Given the description of an element on the screen output the (x, y) to click on. 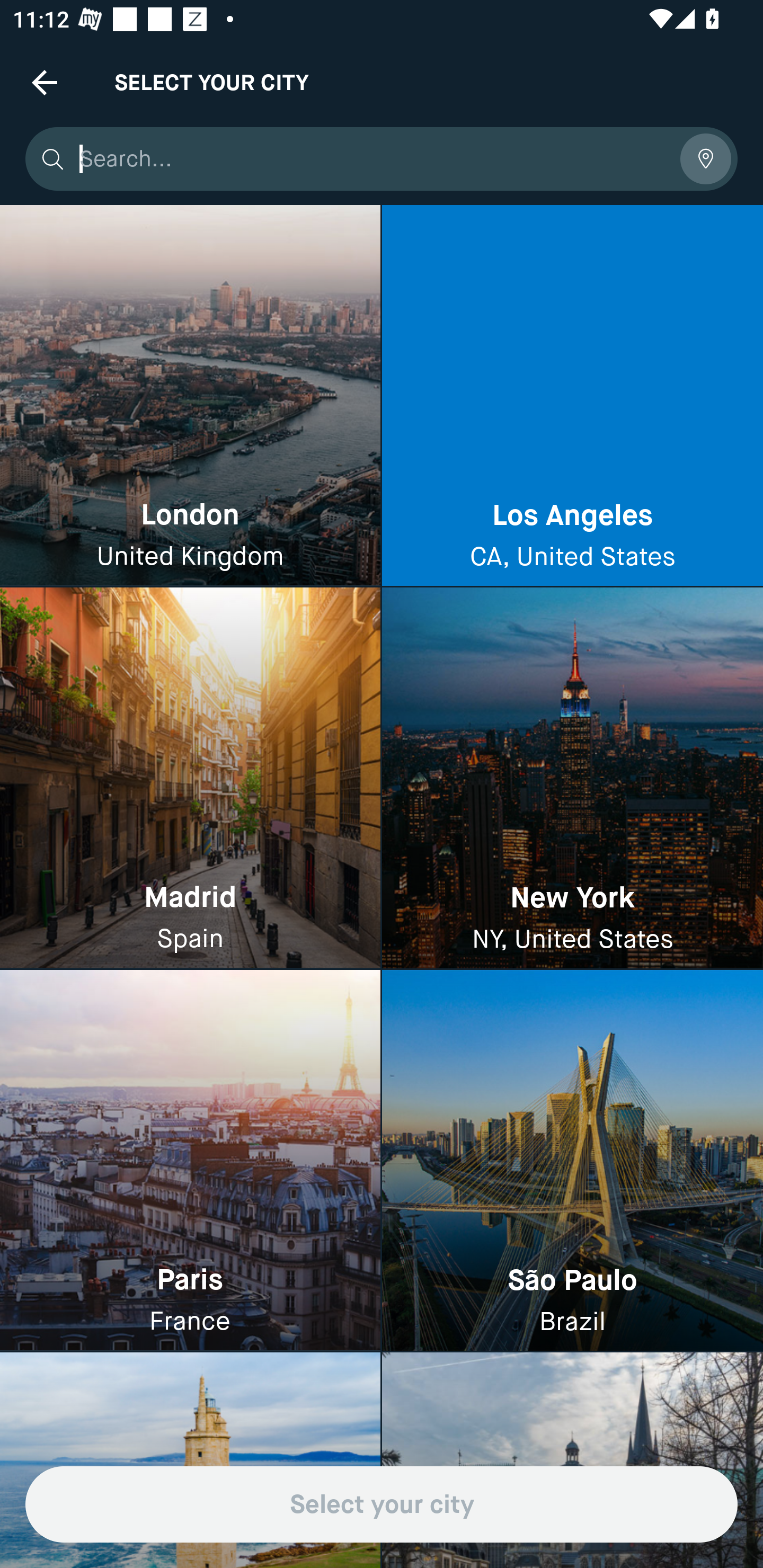
Navigate up (44, 82)
Search... (373, 159)
London United Kingdom (190, 395)
Los Angeles CA, United States (572, 395)
Madrid Spain (190, 778)
New York NY, United States (572, 778)
Paris France (190, 1160)
São Paulo Brazil (572, 1160)
Select your city (381, 1504)
